Given the description of an element on the screen output the (x, y) to click on. 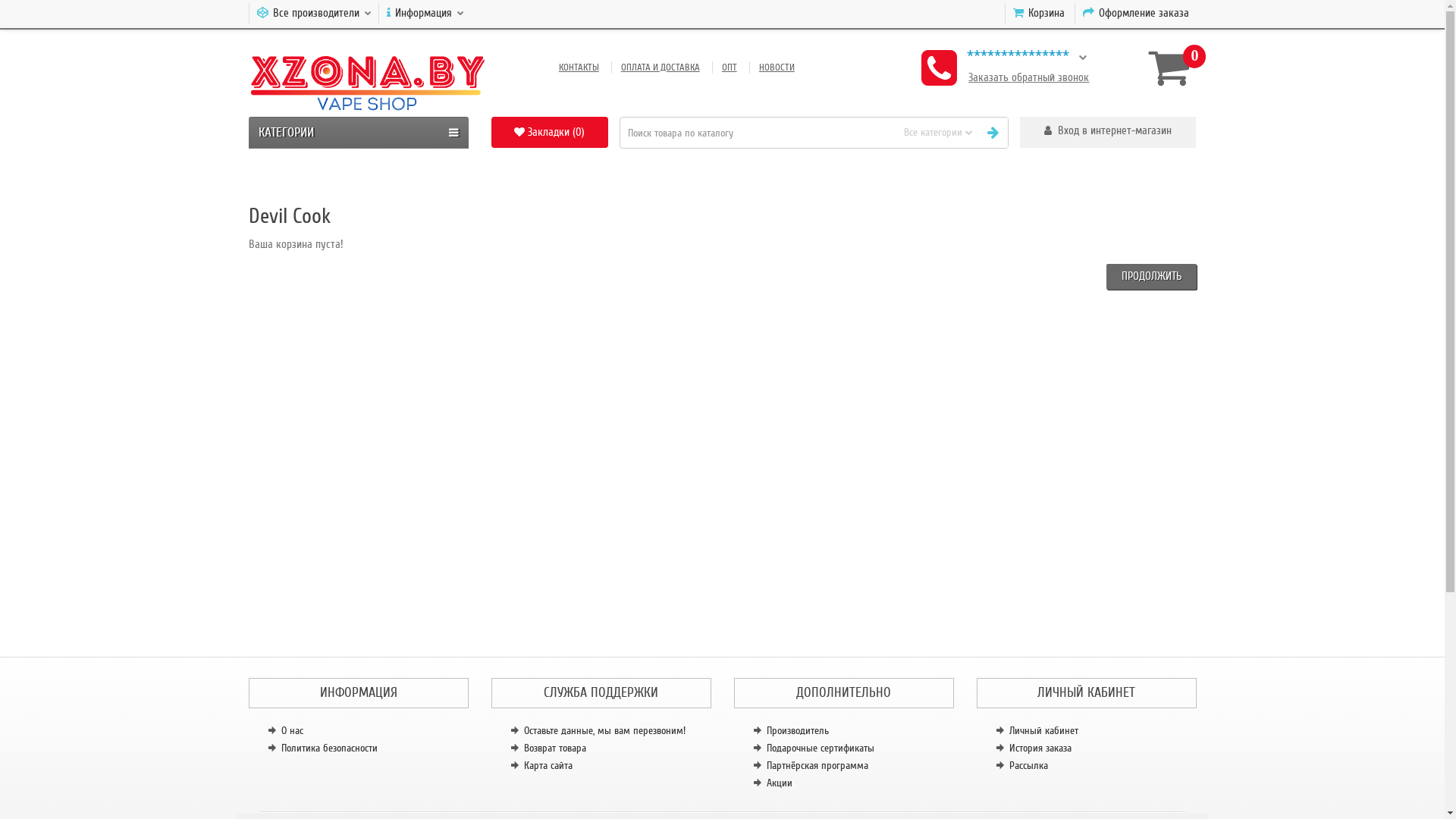
Xzona Element type: hover (367, 78)
0 Element type: text (1166, 67)
*************** Element type: text (1006, 56)
